Given the description of an element on the screen output the (x, y) to click on. 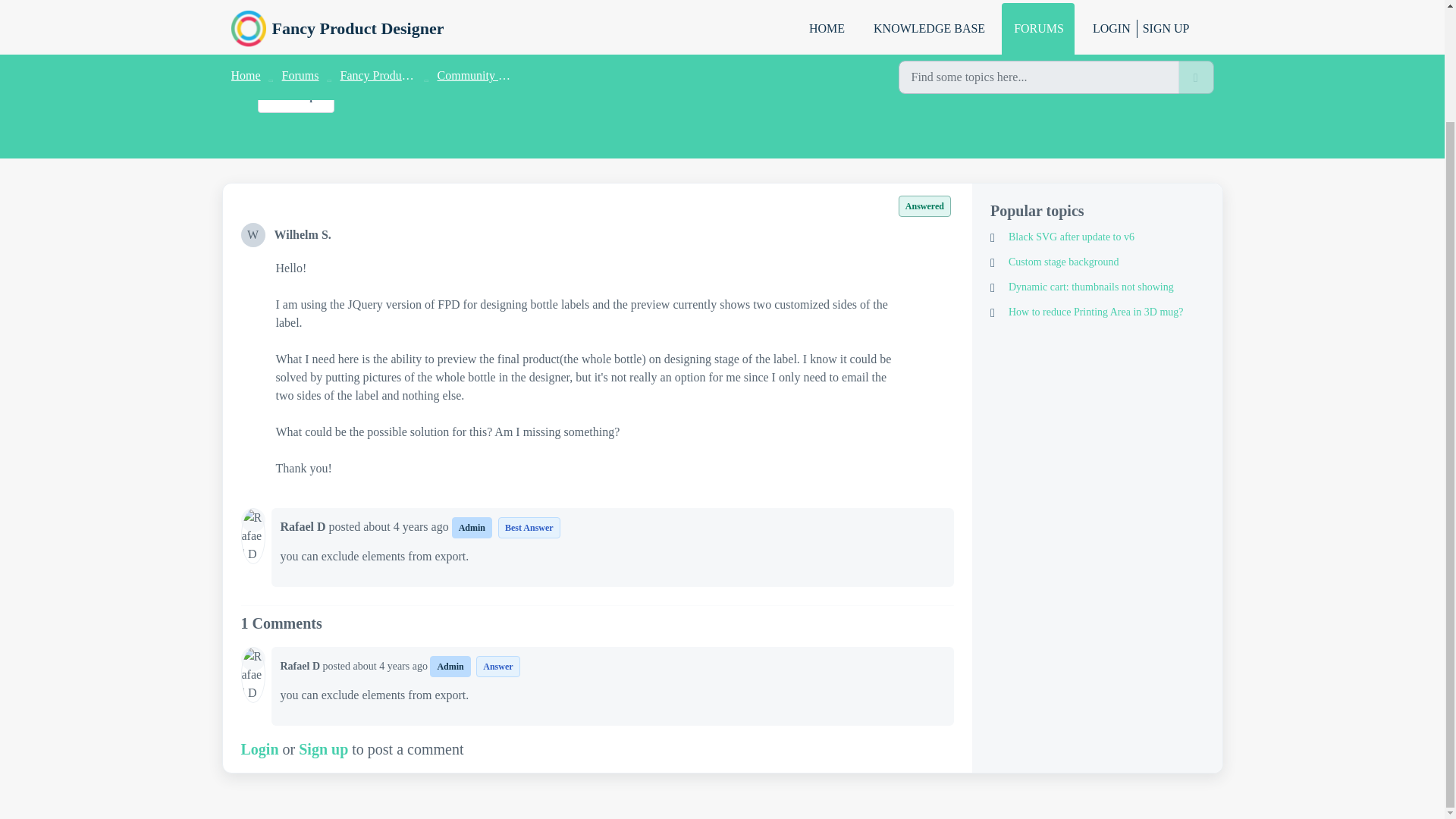
2 Jun, 2020 (406, 526)
Login (260, 749)
How to reduce Printing Area in 3D mug? (1097, 311)
Black SVG after update to v6 (1097, 236)
Sign up (322, 749)
2 Jun, 2020 (391, 665)
Post a topic (295, 95)
Custom stage background (1097, 261)
Dynamic cart: thumbnails not showing (1097, 286)
1 Jun, 2020 (337, 56)
